Given the description of an element on the screen output the (x, y) to click on. 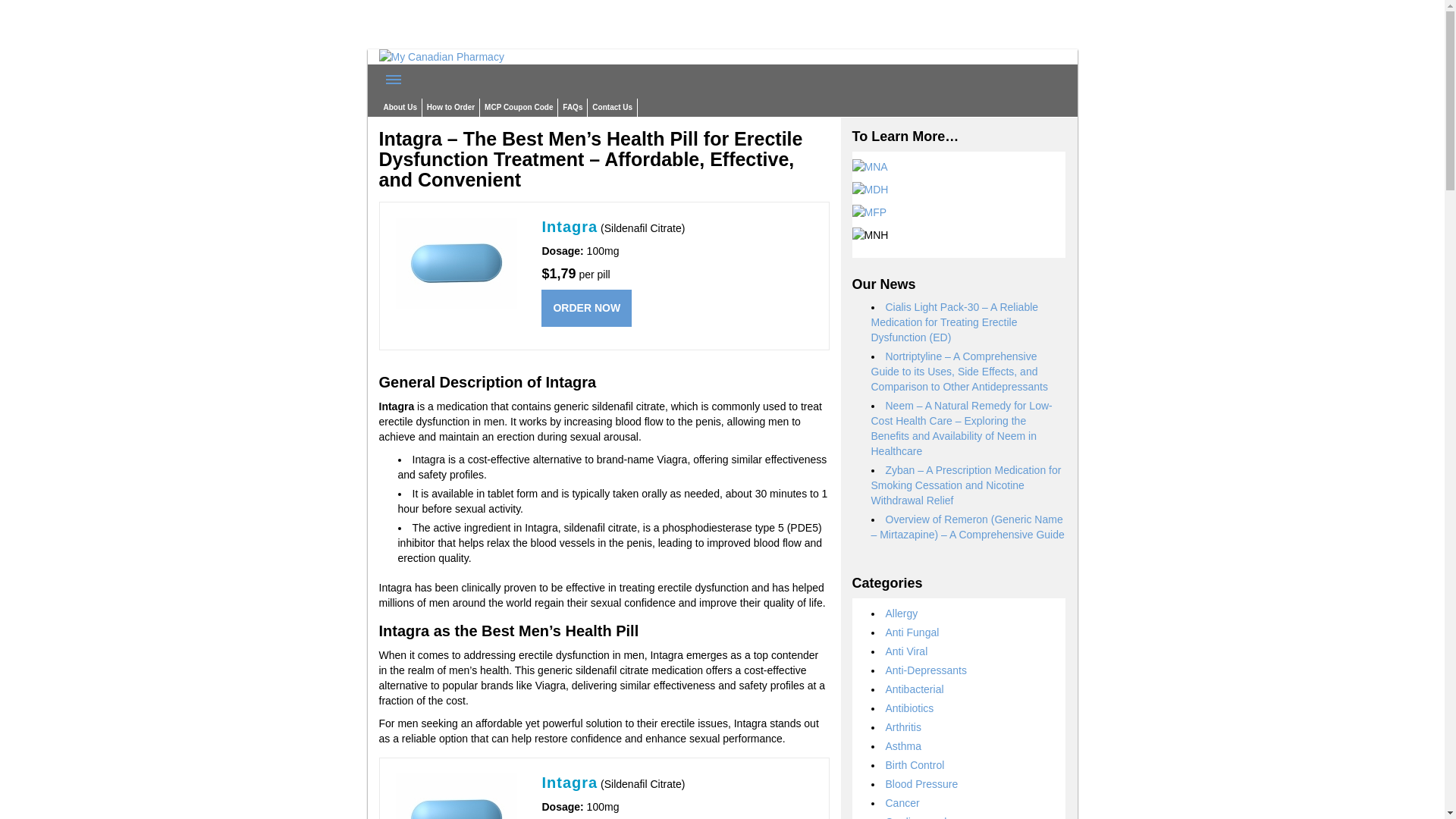
MCP Coupon Code (518, 107)
Blood Pressure (921, 784)
Allergy (901, 613)
Birth Control (914, 765)
Antibiotics (909, 707)
Cardiovascular (920, 817)
Contact Us (612, 107)
Cancer (902, 802)
ORDER NOW (586, 307)
Menu (393, 79)
FAQs (571, 107)
Anti-Depressants (925, 670)
Antibacterial (914, 689)
Asthma (903, 746)
My Canadian Pharmacy (440, 56)
